Given the description of an element on the screen output the (x, y) to click on. 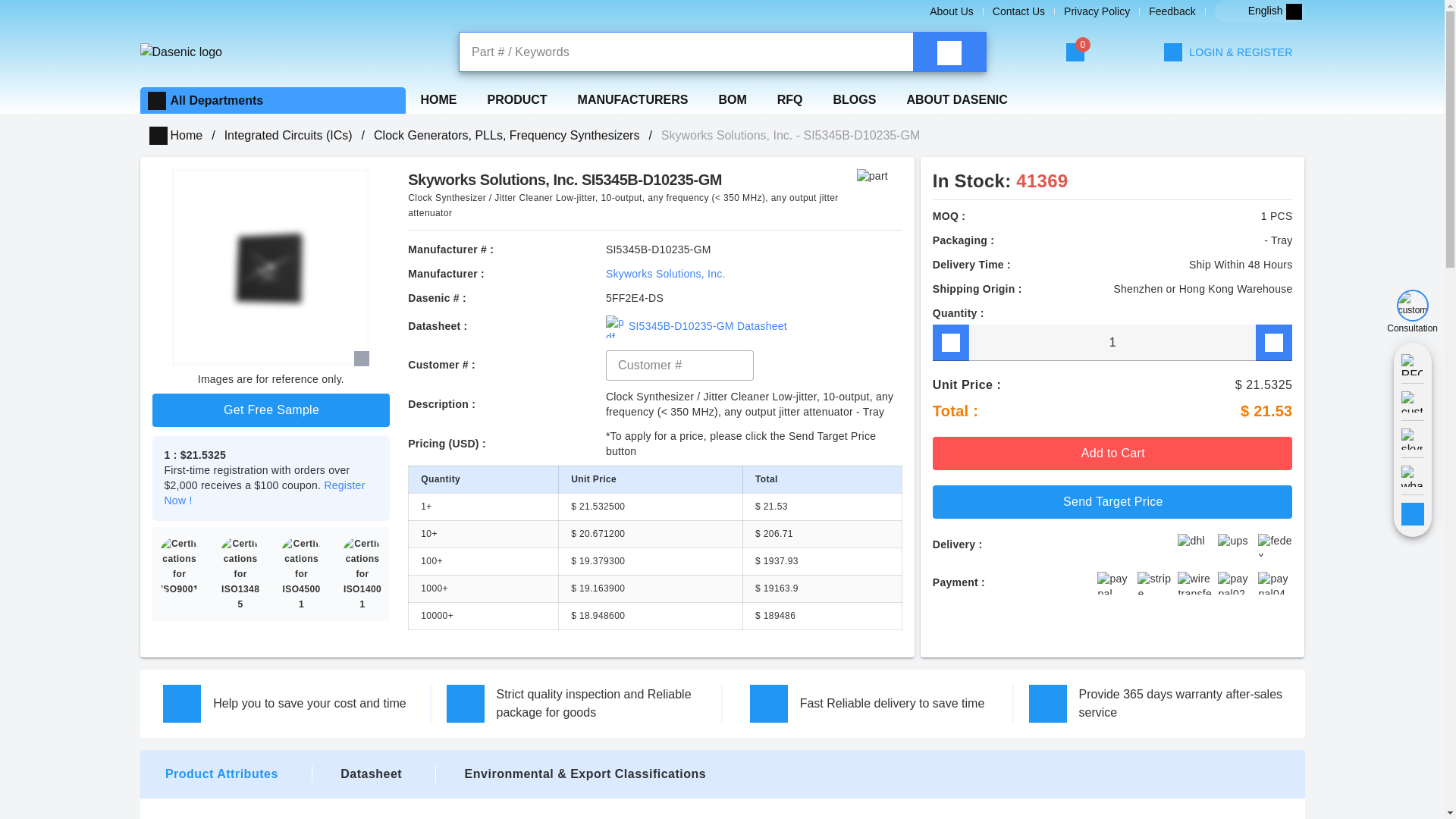
All Departments (216, 100)
Privacy Policy (1096, 11)
Contact Us (1018, 11)
Feedback (1171, 11)
1 (1112, 342)
About Us (952, 11)
0 (1074, 51)
